Given the description of an element on the screen output the (x, y) to click on. 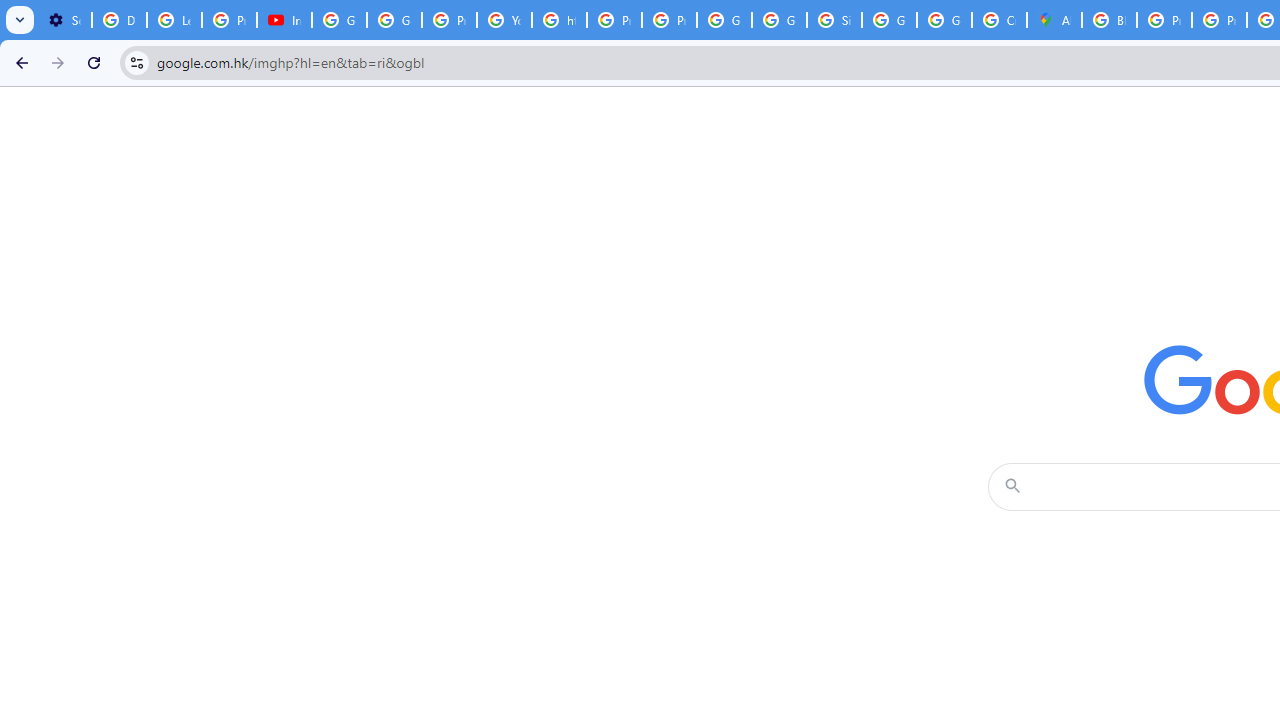
Settings - Customize profile (64, 20)
Blogger Policies and Guidelines - Transparency Center (1108, 20)
Learn how to find your photos - Google Photos Help (174, 20)
Privacy Help Center - Policies Help (1163, 20)
Google Account Help (339, 20)
Privacy Help Center - Policies Help (614, 20)
